Given the description of an element on the screen output the (x, y) to click on. 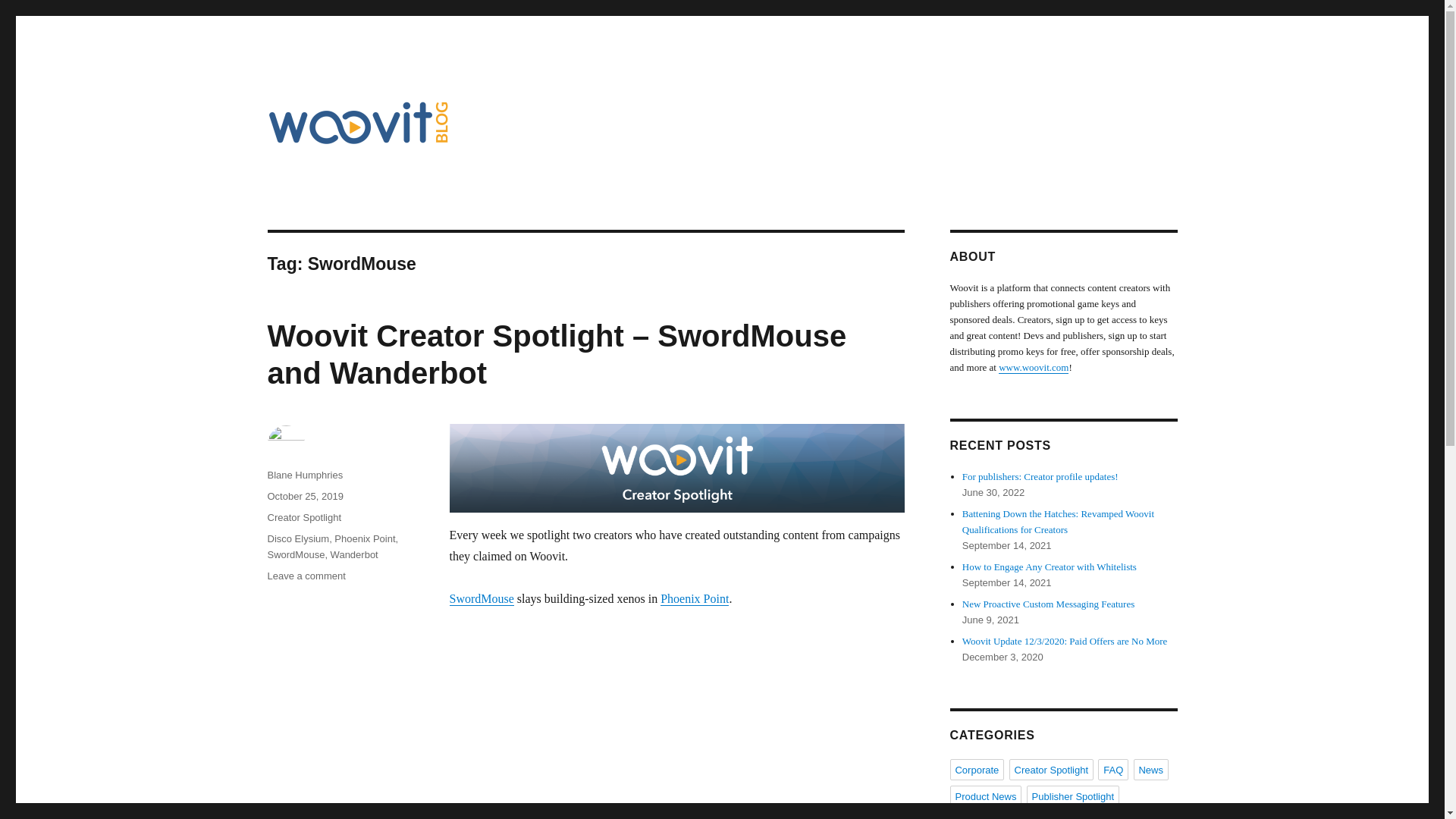
October 25, 2019 (304, 496)
Corporate (976, 769)
SwordMouse (480, 598)
New Proactive Custom Messaging Features (1048, 603)
Phoenix Point (364, 538)
Product News (985, 795)
Blane Humphries (304, 474)
Phoenix Point (695, 598)
Creator Spotlight (1051, 769)
News (1149, 769)
